Given the description of an element on the screen output the (x, y) to click on. 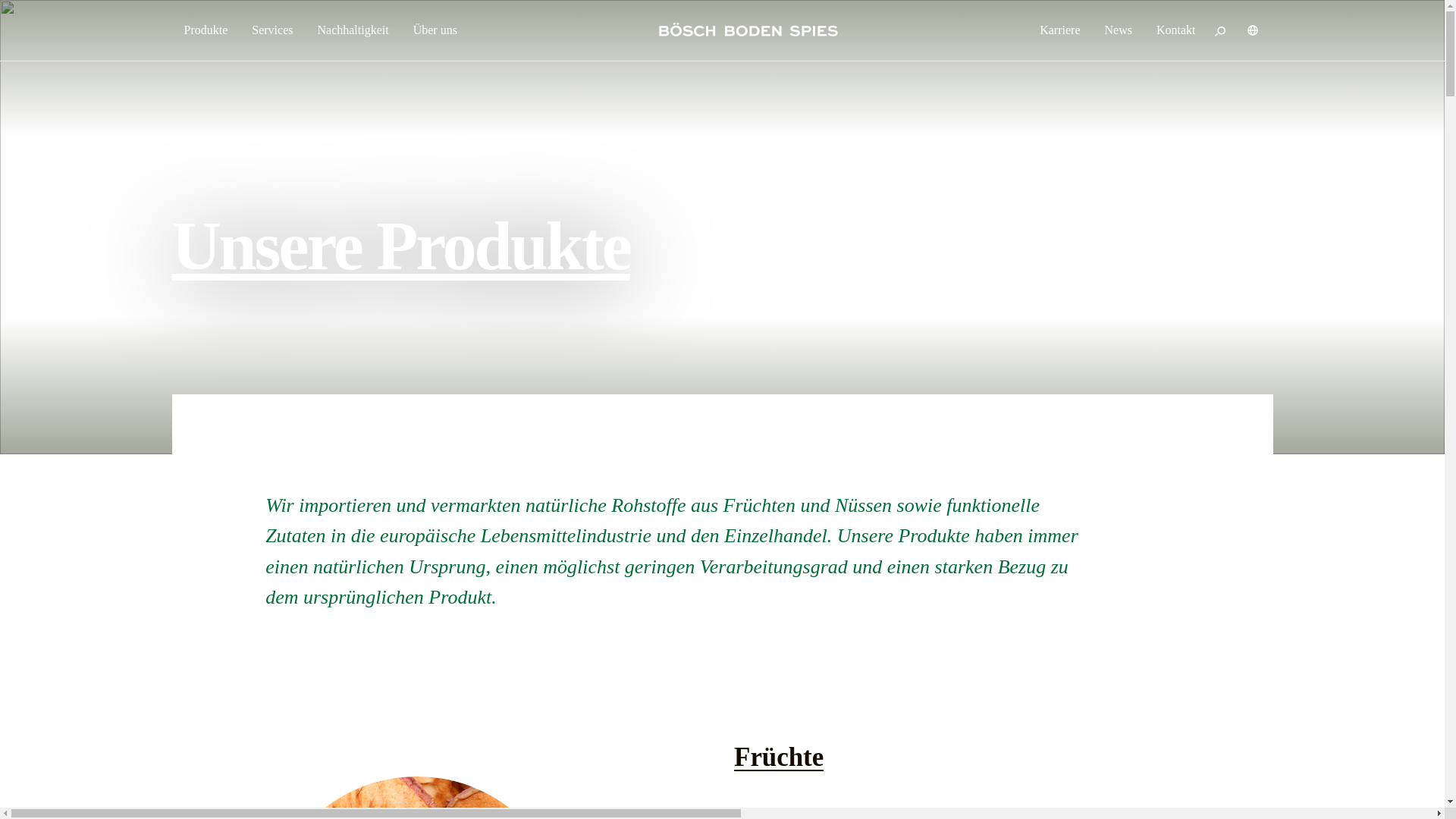
Nachhaltigkeit (352, 30)
Services (272, 30)
Kontakt (1176, 30)
Karriere (1059, 30)
Produkte (205, 30)
